Given the description of an element on the screen output the (x, y) to click on. 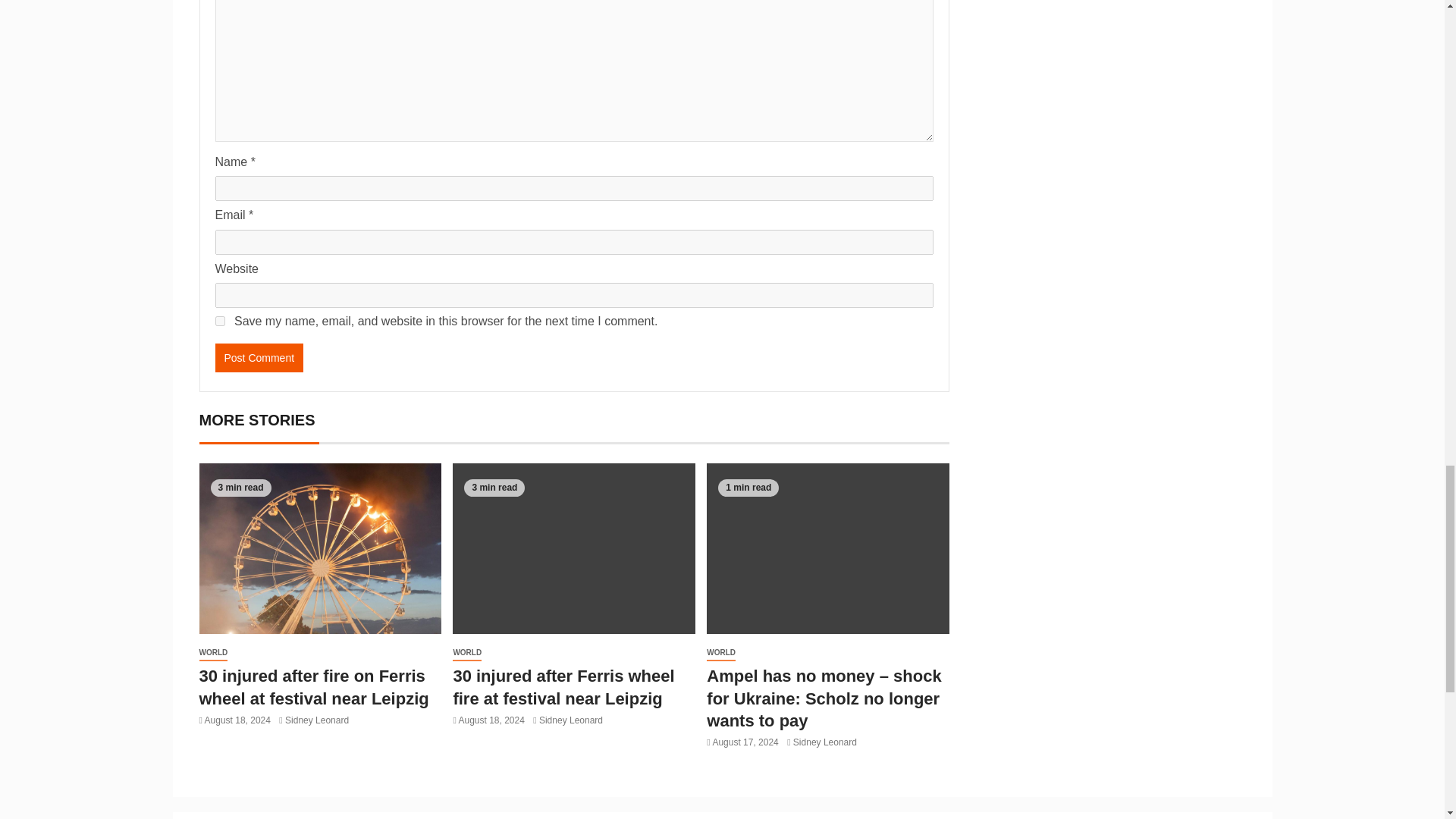
Post Comment (259, 357)
Post Comment (259, 357)
yes (220, 320)
